Given the description of an element on the screen output the (x, y) to click on. 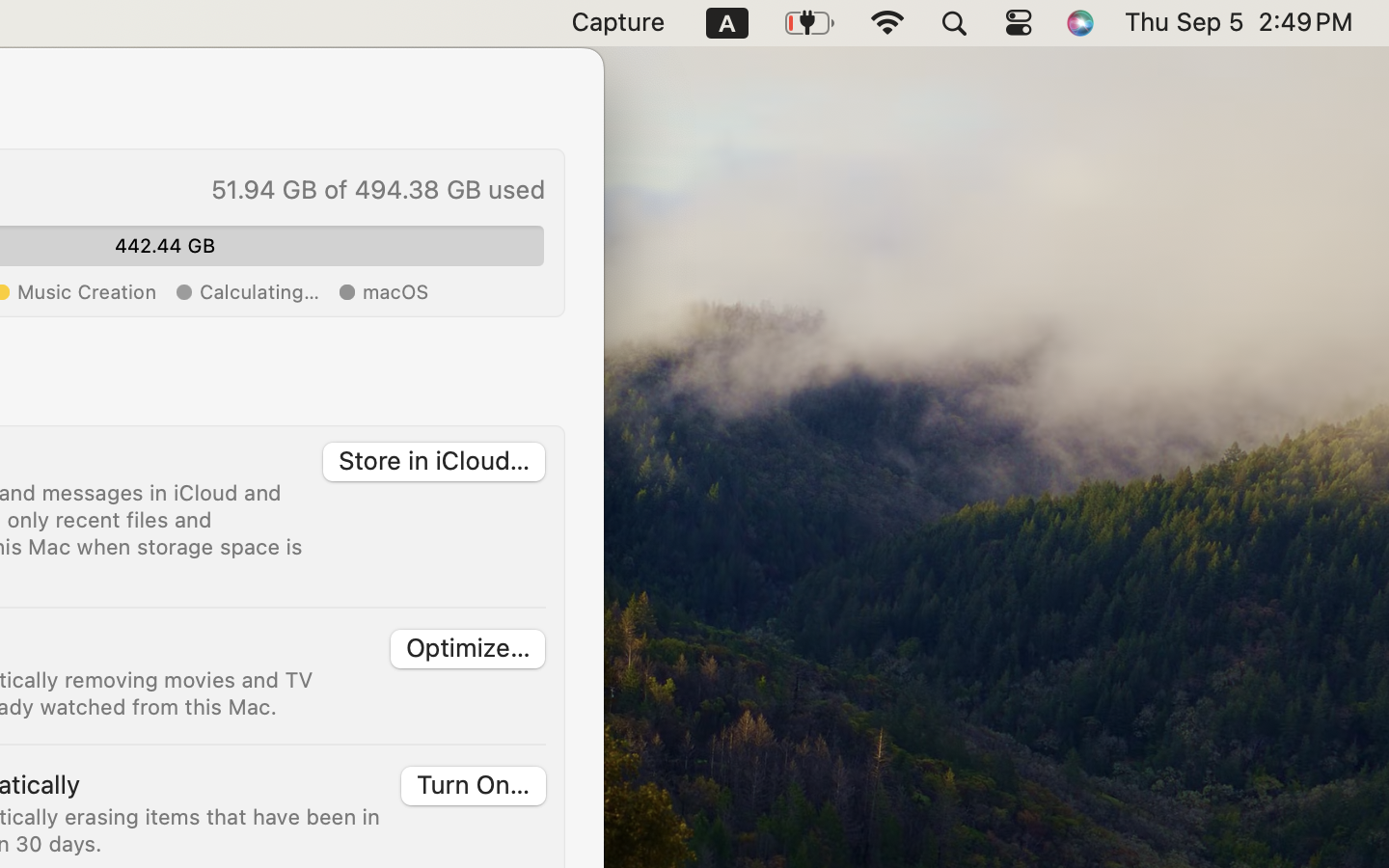
51.94 GB of 494.38 GB used Element type: AXStaticText (377, 188)
